Given the description of an element on the screen output the (x, y) to click on. 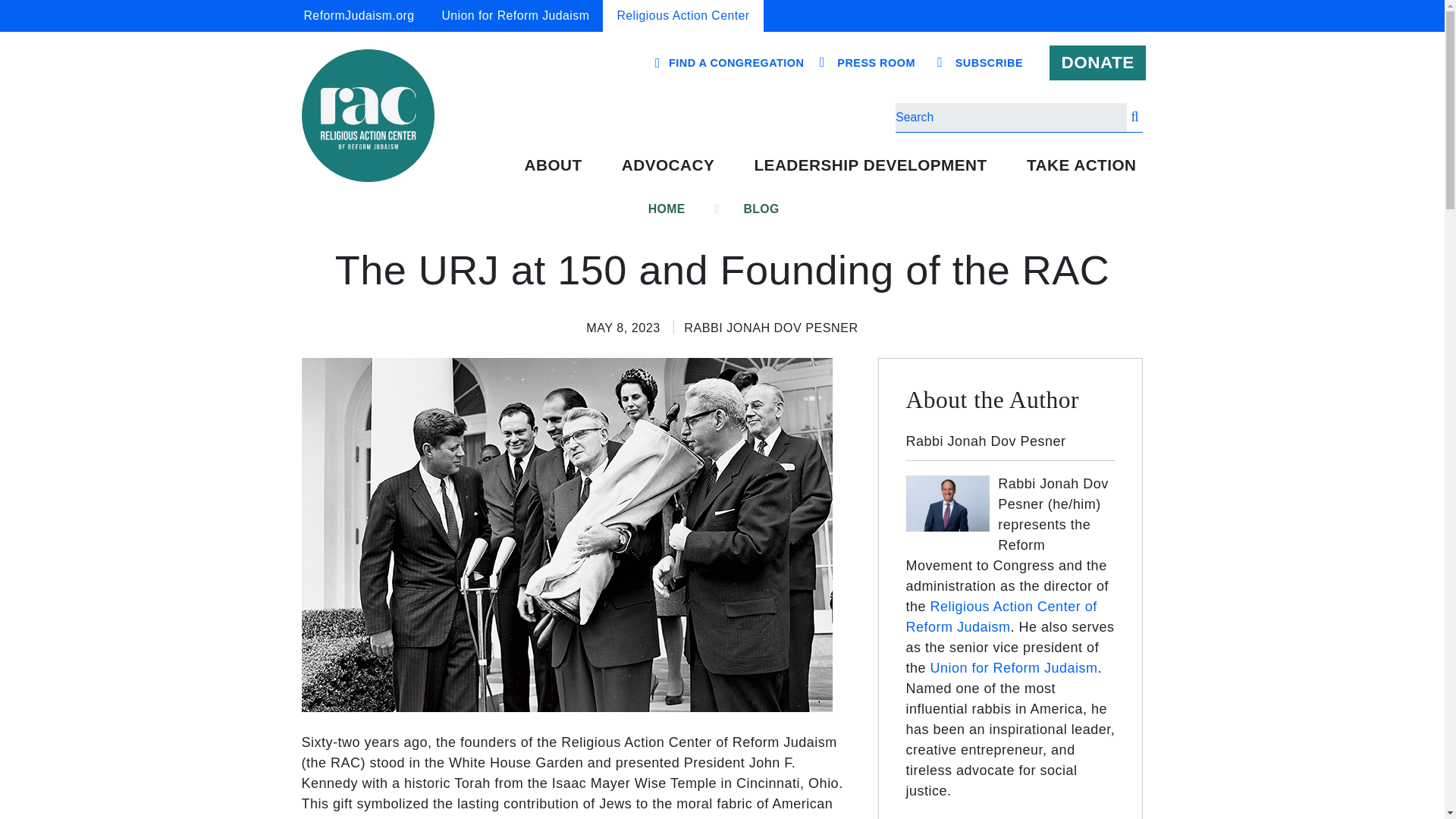
ABOUT (552, 164)
DONATE (1097, 63)
Union for Reform Judaism (515, 15)
LEADERSHIP DEVELOPMENT (869, 164)
ReformJudaism.org (358, 15)
FIND A CONGREGATION (735, 62)
TAKE ACTION (1081, 164)
SUBSCRIBE (989, 63)
PRESS ROOM (876, 63)
ADVOCACY (667, 164)
Skip to main content (721, 1)
Religious Action Center (682, 15)
